Given the description of an element on the screen output the (x, y) to click on. 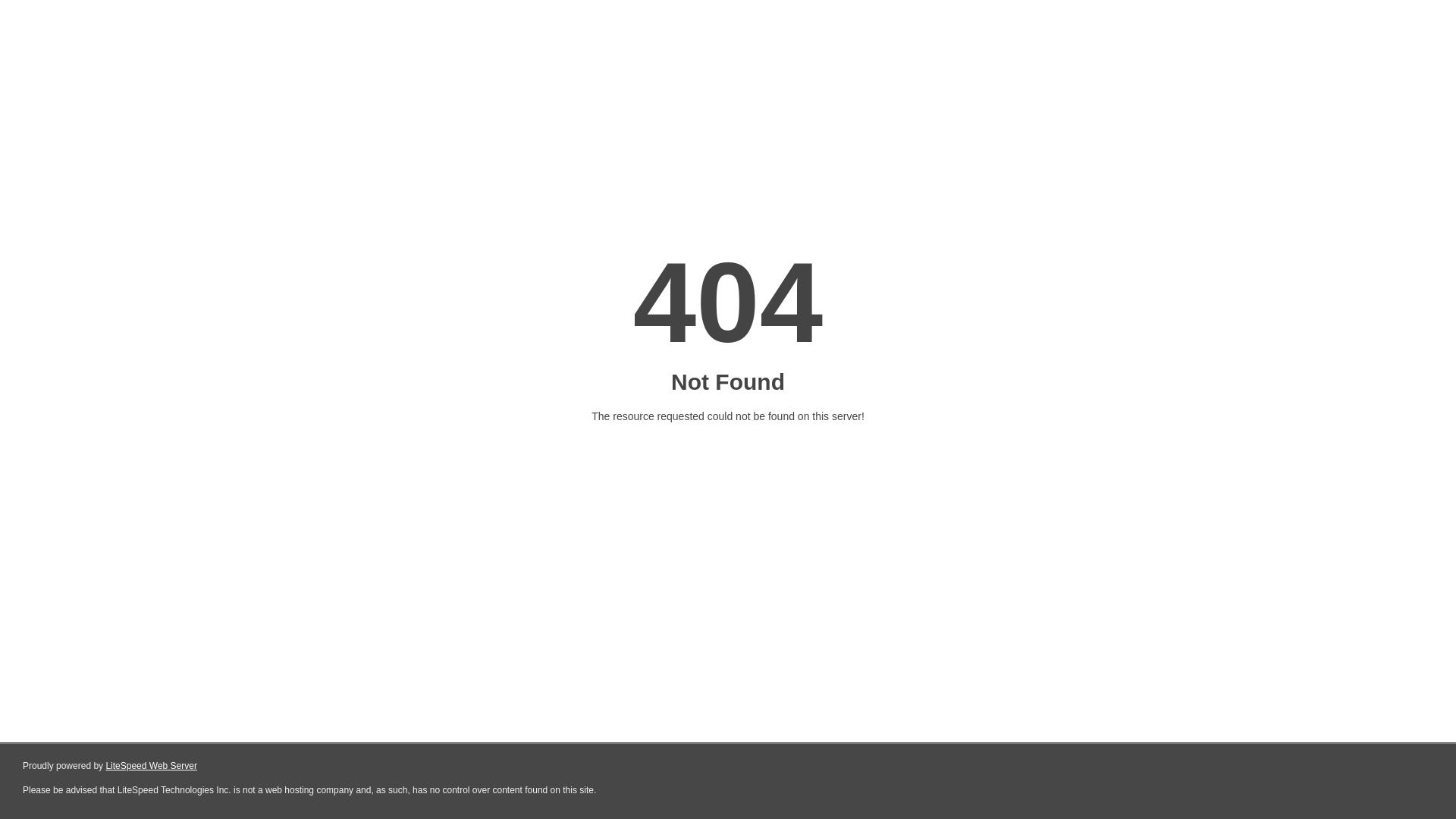
LiteSpeed Web Server (150, 765)
